Given the description of an element on the screen output the (x, y) to click on. 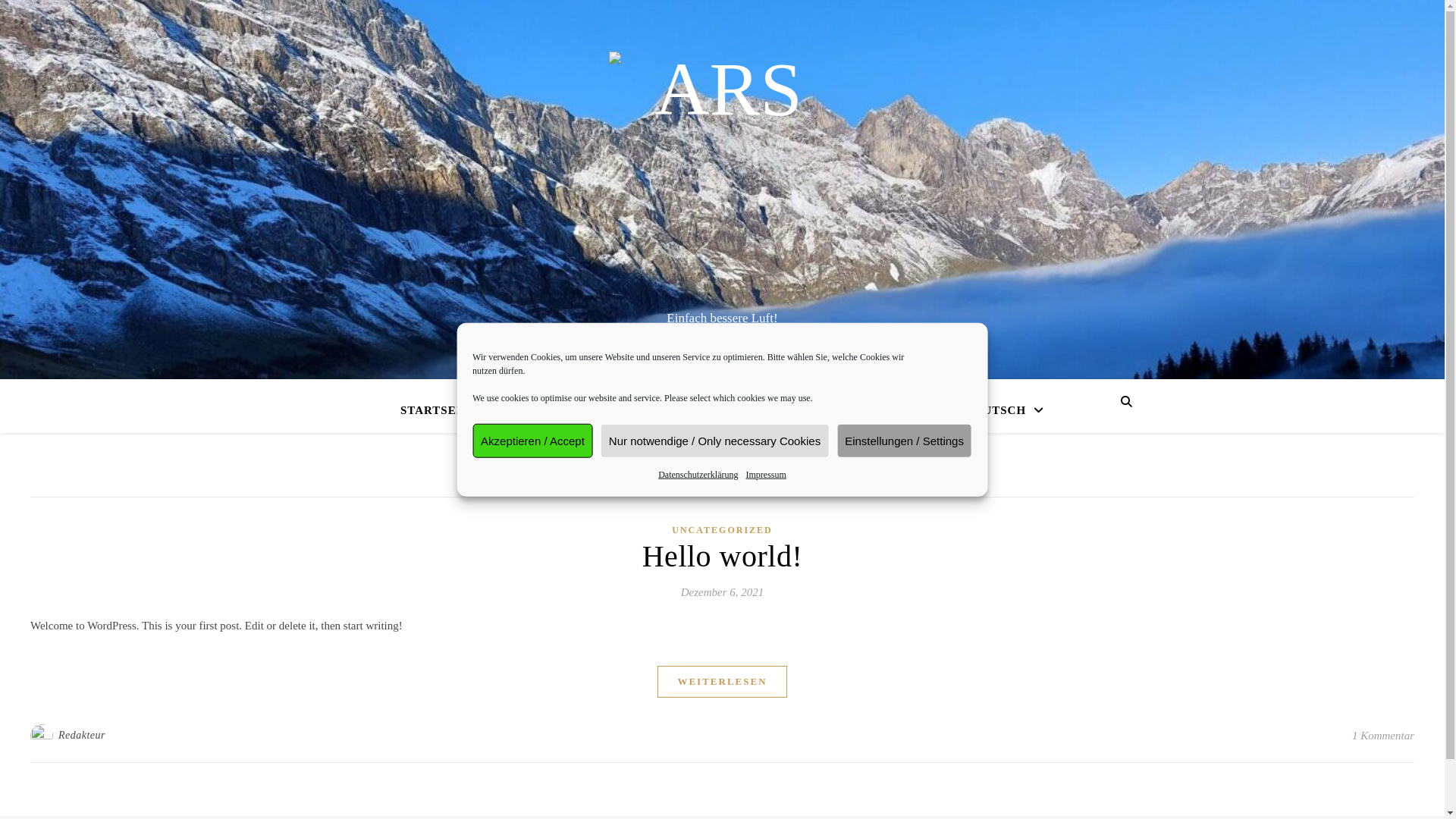
Einstellungen / Settings Element type: text (904, 440)
WEITERLESEN Element type: text (721, 681)
Akzeptieren / Accept Element type: text (532, 440)
Redakteur Element type: text (81, 735)
Hello world! Element type: text (722, 556)
Nur notwendige / Only necessary Cookies Element type: text (714, 440)
ARS Element type: hover (721, 175)
Impressum Element type: text (765, 474)
UNCATEGORIZED Element type: text (721, 529)
DEUTSCH Element type: text (997, 406)
STARTSEITE Element type: text (445, 410)
IMPRESSUM Element type: text (700, 410)
1 Kommentar Element type: text (1383, 735)
